Given the description of an element on the screen output the (x, y) to click on. 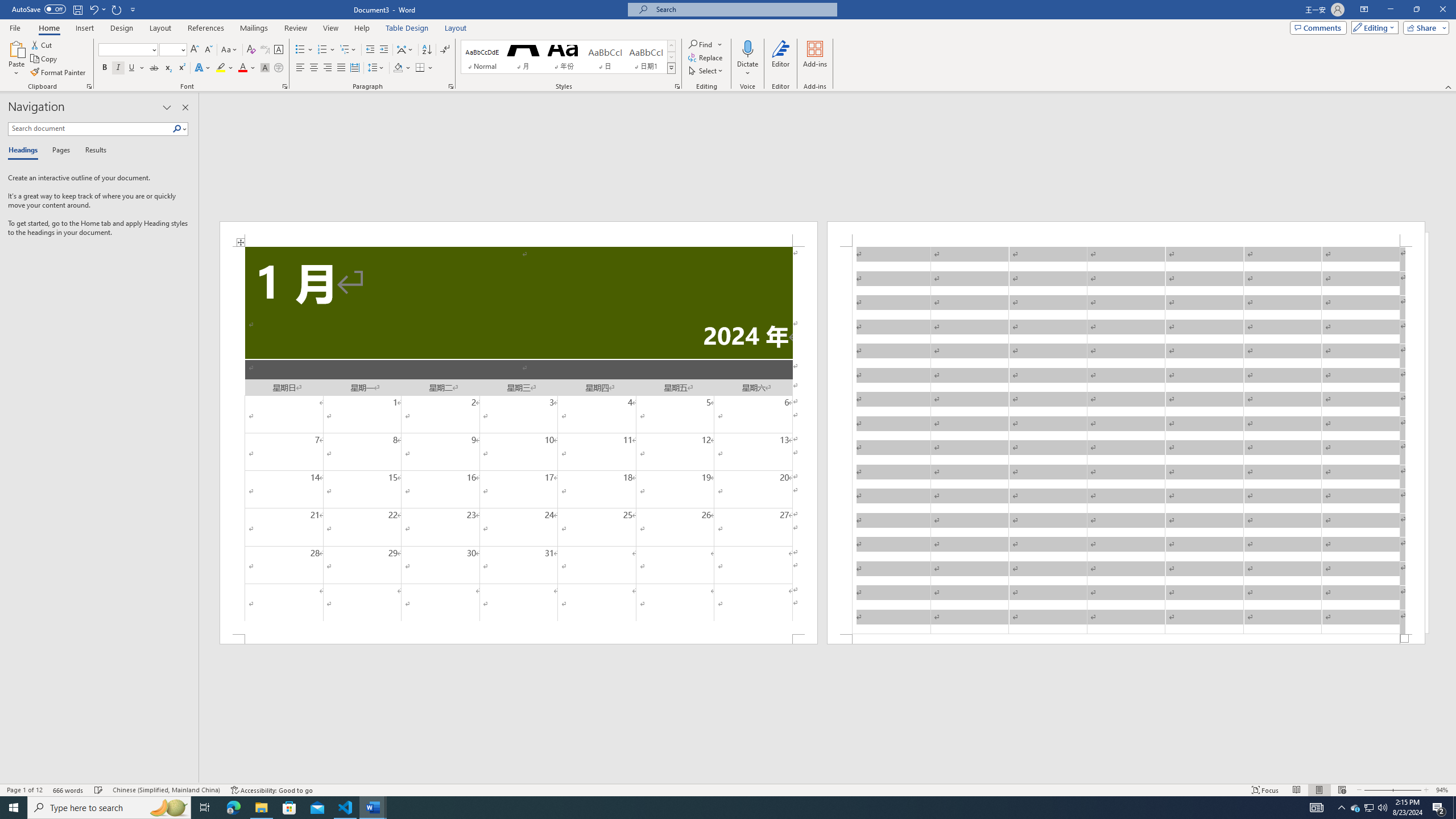
Pages (59, 150)
Page Number Page 1 of 12 (24, 790)
Text Highlight Color Yellow (220, 67)
Text Effects and Typography (202, 67)
